Given the description of an element on the screen output the (x, y) to click on. 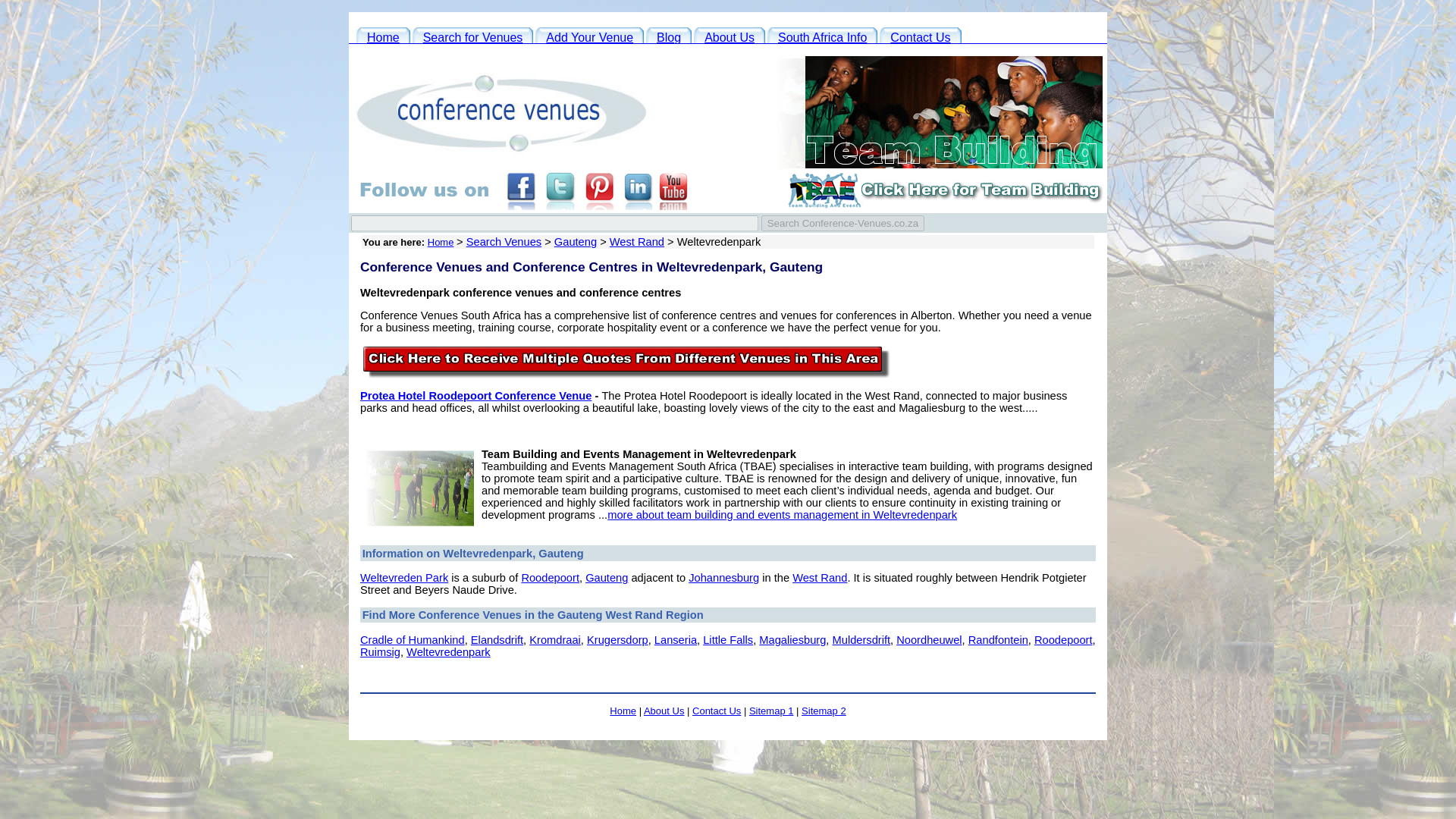
Conference Venues SA Blog (668, 36)
Little Falls (727, 639)
Roodepoort (1063, 639)
Muldersdrift (861, 639)
Randfontein (997, 639)
About Us (729, 36)
Protea Hotel Roodepoort Conference Venue (475, 395)
Noordheuwel (928, 639)
Search Conference Venues (473, 36)
Roodepoort (550, 577)
